Given the description of an element on the screen output the (x, y) to click on. 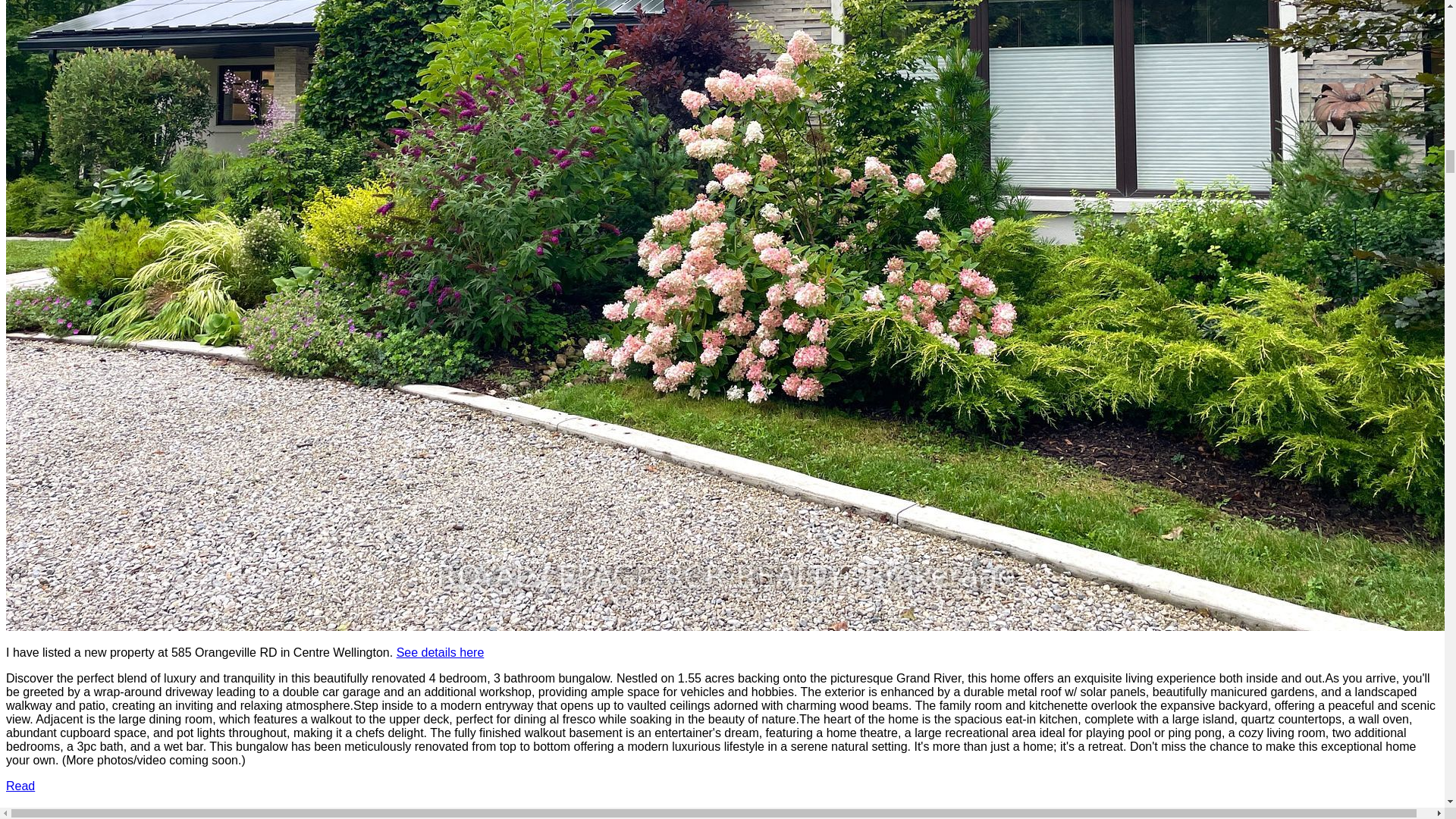
New property listed in Rural Amaranth, Amaranth (204, 813)
See details here (440, 652)
Read (19, 785)
